Given the description of an element on the screen output the (x, y) to click on. 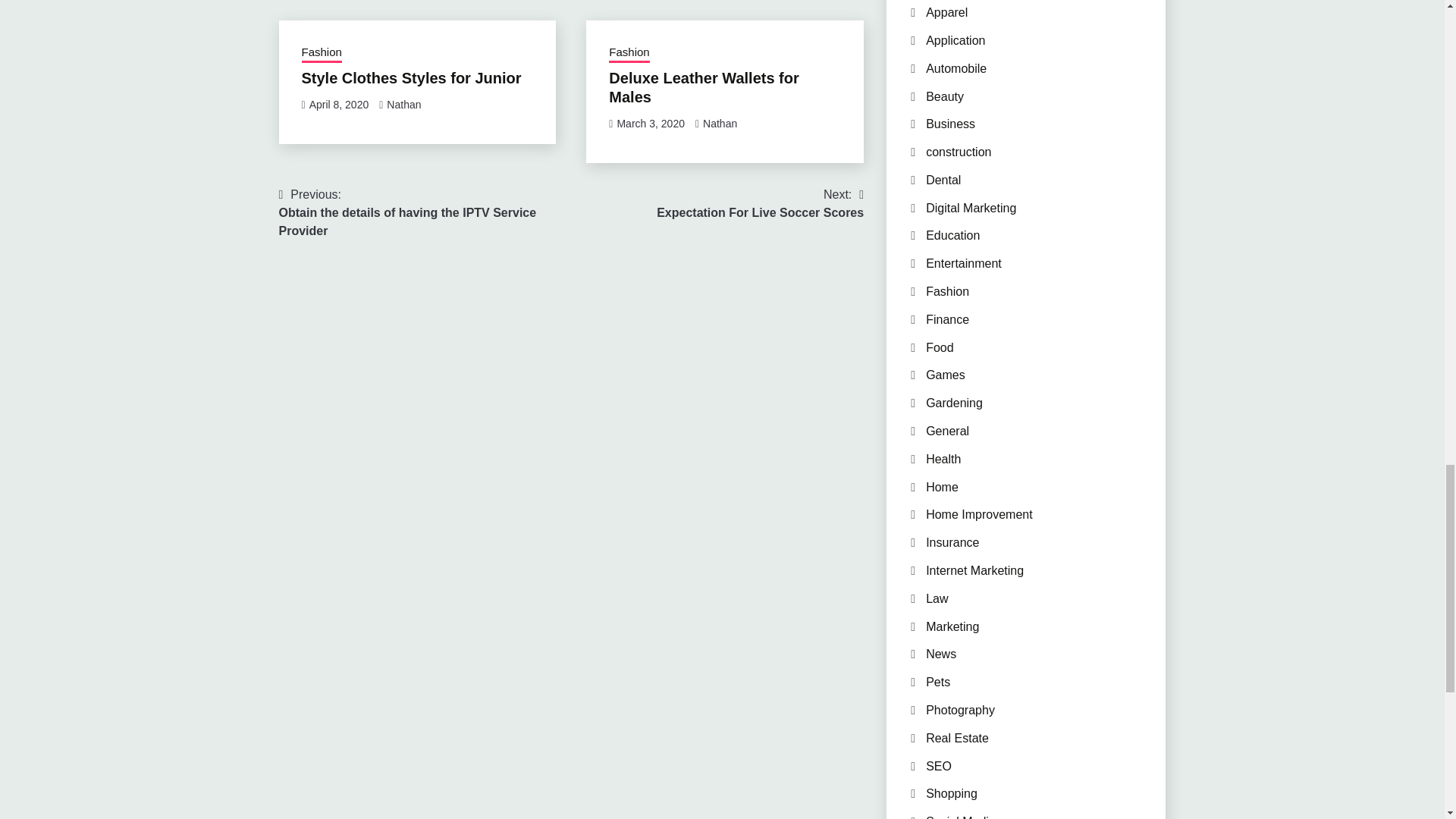
Deluxe Leather Wallets for Males (702, 87)
Nathan (403, 104)
April 8, 2020 (338, 104)
Style Clothes Styles for Junior (411, 77)
Fashion (628, 53)
March 3, 2020 (649, 123)
Nathan (719, 123)
Fashion (759, 203)
